Given the description of an element on the screen output the (x, y) to click on. 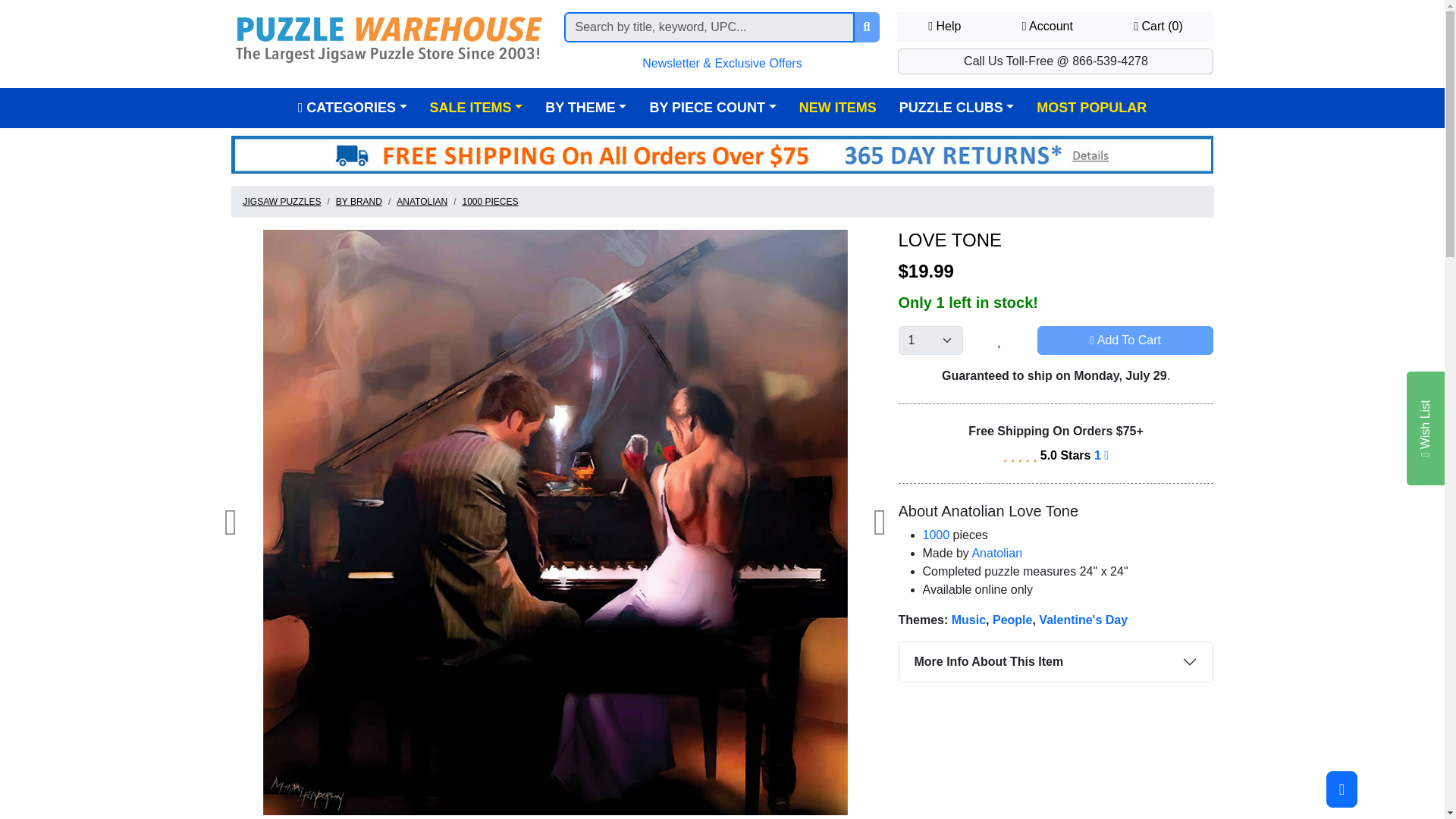
Quantity (930, 339)
Add To Wish List (999, 339)
